Given the description of an element on the screen output the (x, y) to click on. 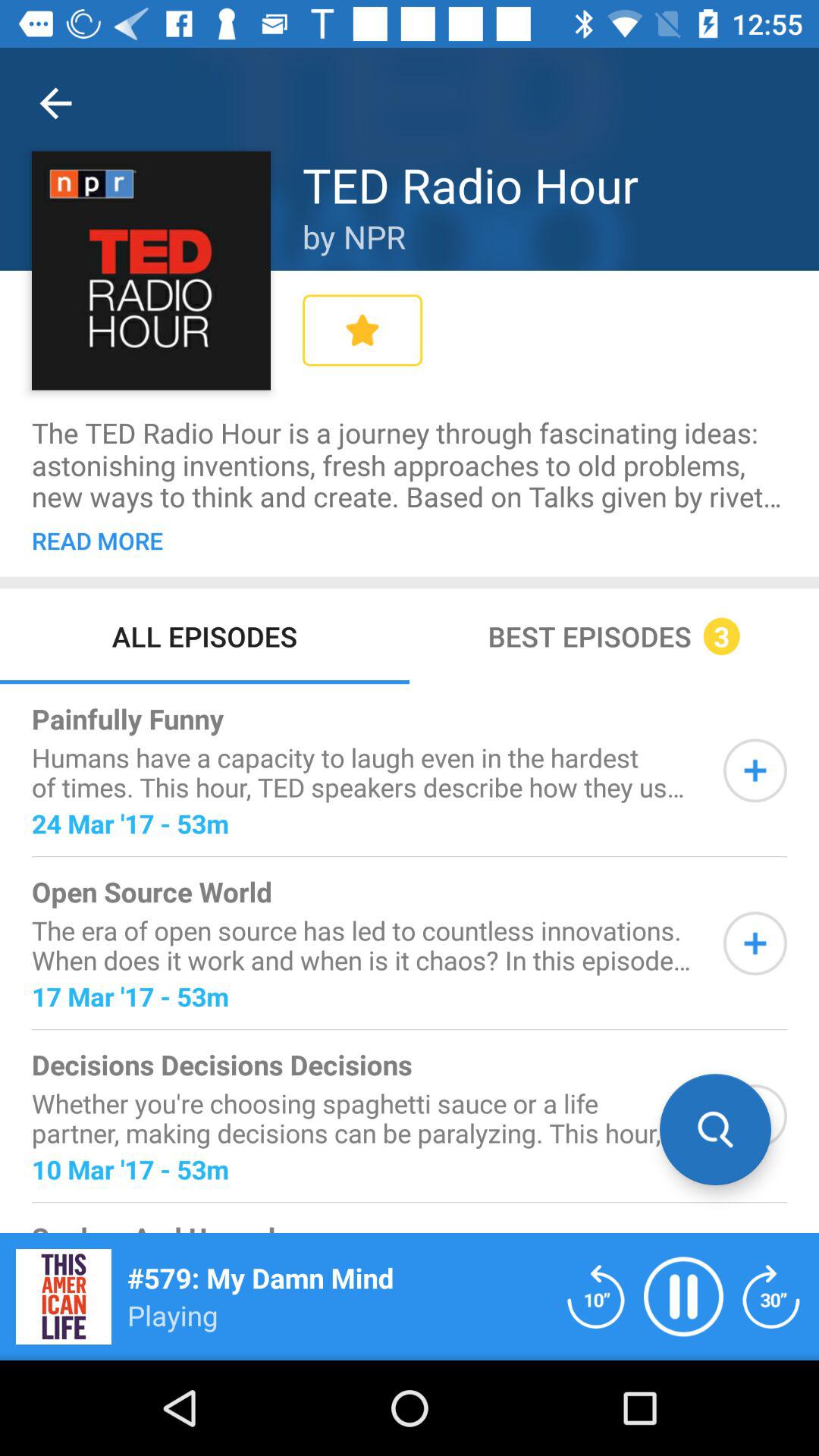
add this to queue (755, 770)
